Given the description of an element on the screen output the (x, y) to click on. 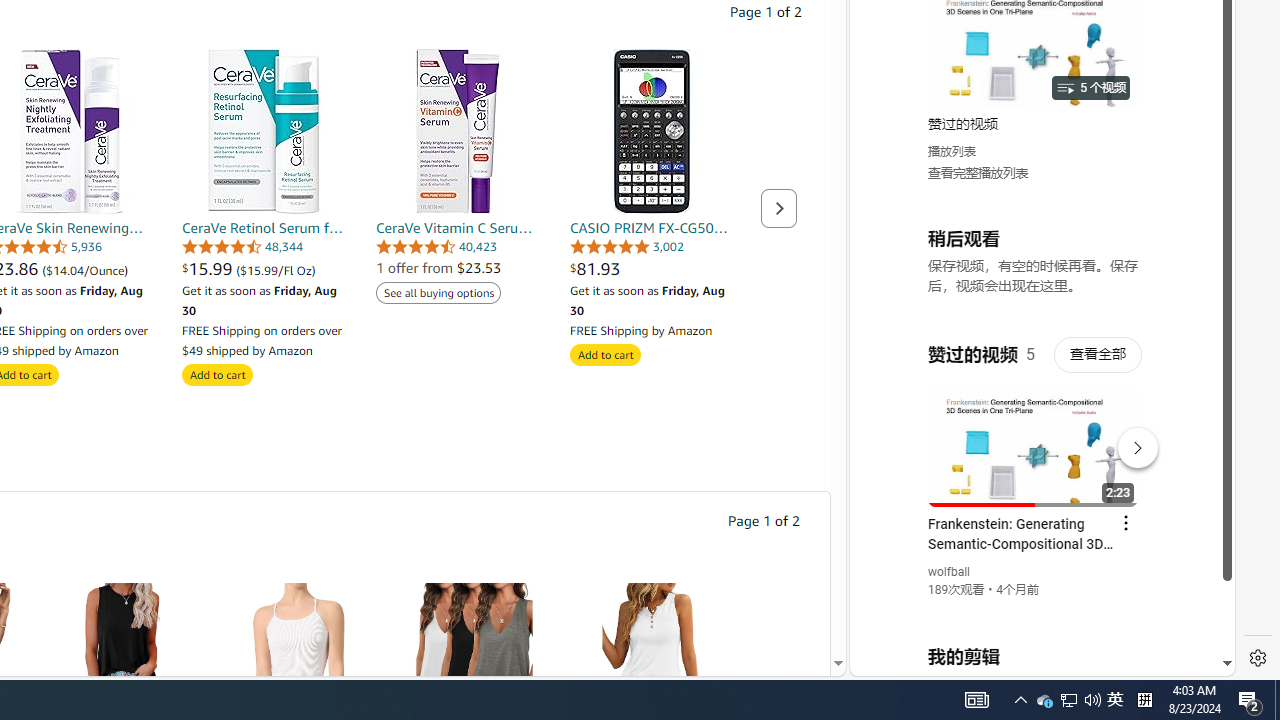
($15.99/Fl Oz) (275, 269)
$81.93 (651, 268)
Class: dict_pnIcon rms_img (1028, 660)
Class: a-link-normal a-text-normal (263, 268)
Add to cart (605, 354)
CASIO PRIZM FX-CG50 Color Graphing Calculator (651, 130)
